Given the description of an element on the screen output the (x, y) to click on. 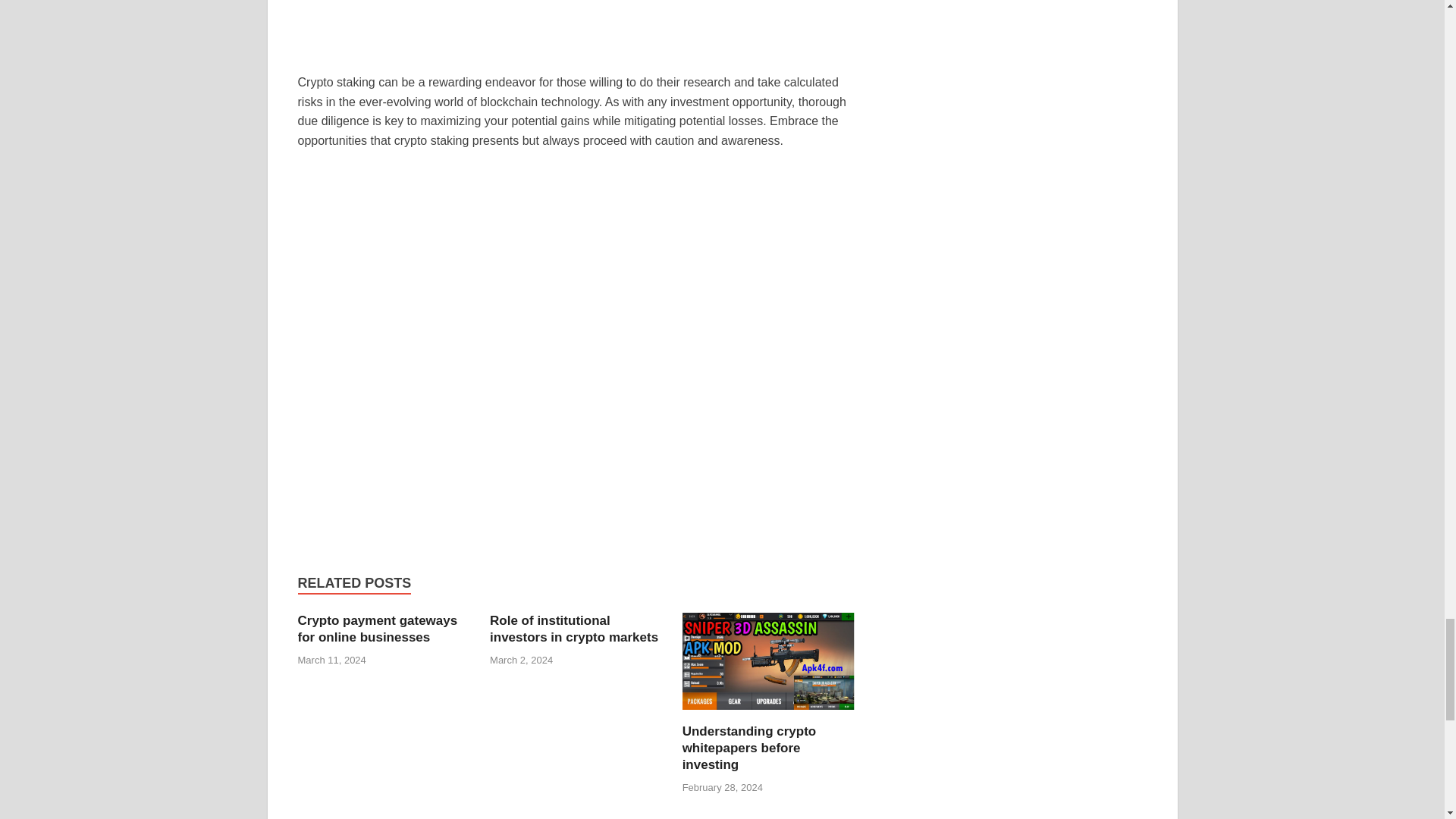
Role of institutional investors in crypto markets (573, 628)
Crypto payment gateways for online businesses (377, 628)
Role of institutional investors in crypto markets (573, 628)
Understanding crypto whitepapers before investing (769, 713)
Understanding crypto whitepapers before investing (749, 747)
